Given the description of an element on the screen output the (x, y) to click on. 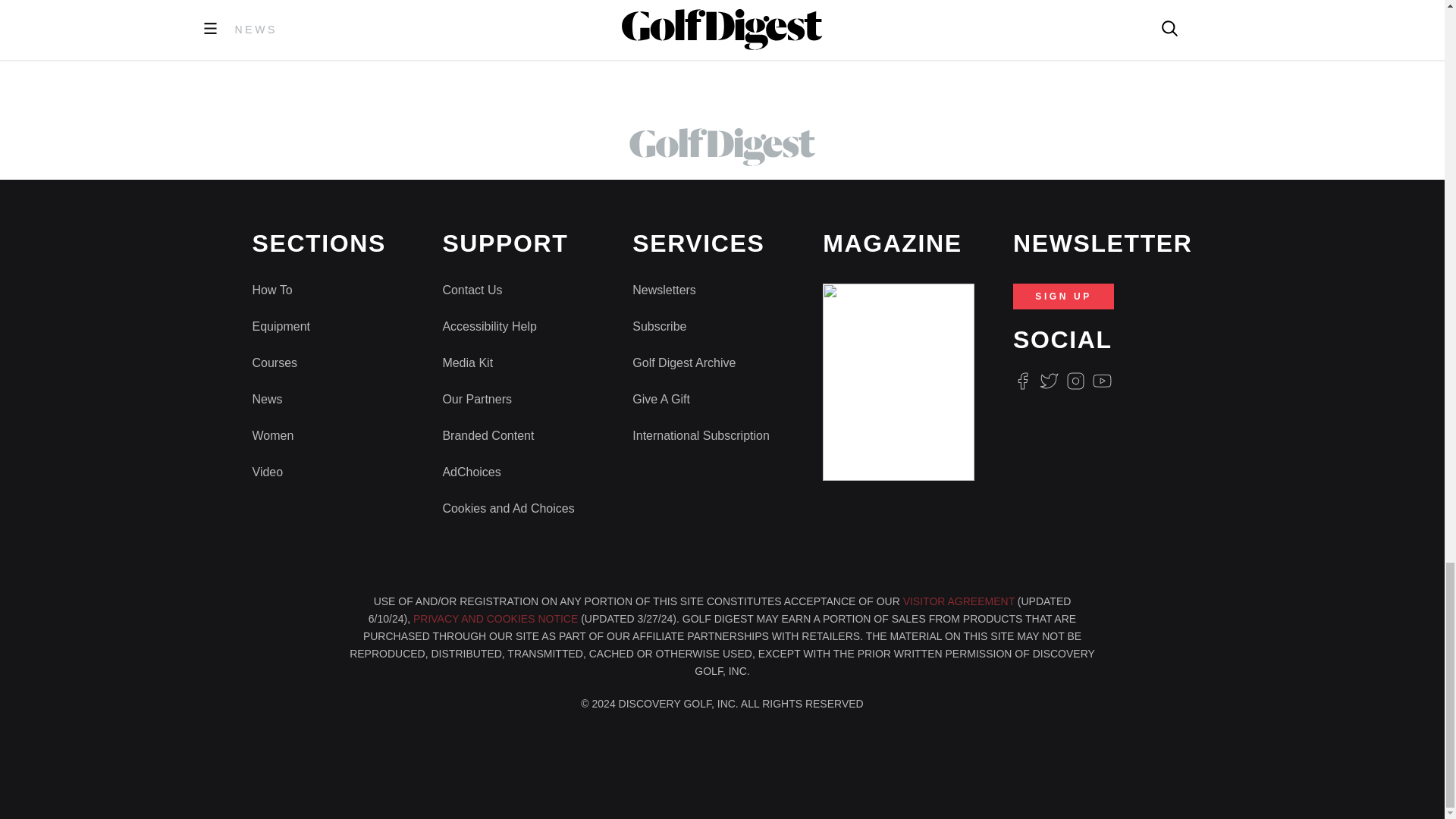
Facebook Logo (1022, 380)
Youtube Icon (1102, 380)
Instagram Logo (1074, 380)
Twitter Logo (1048, 380)
